Given the description of an element on the screen output the (x, y) to click on. 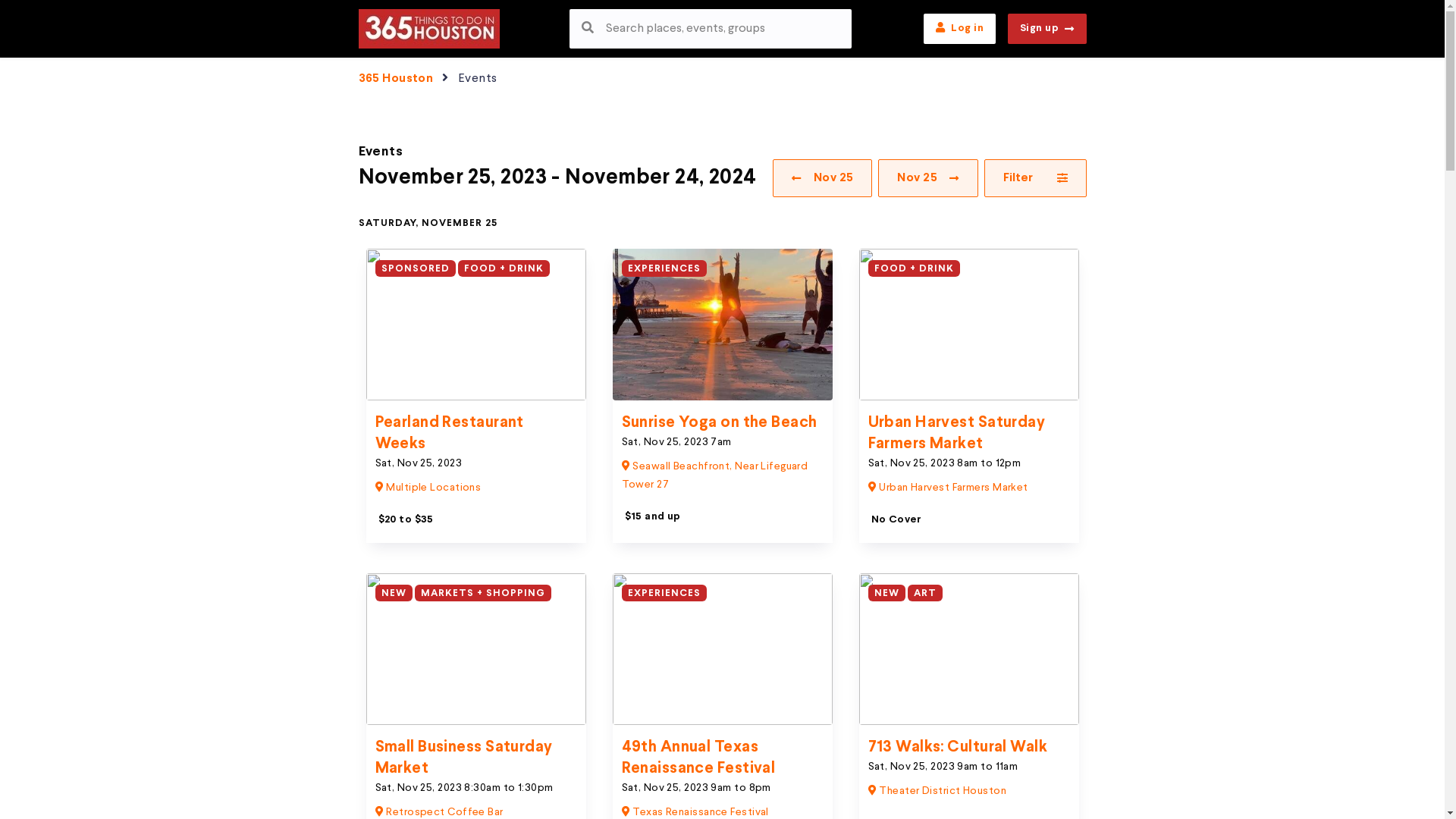
Sunrise Yoga on the Beach Element type: text (719, 422)
713 Walks: Cultural Walk Element type: text (957, 747)
Small Business Saturday Market Element type: text (463, 758)
Filter Element type: text (1035, 178)
FOOD + DRINK Element type: text (913, 268)
SPONSORED Element type: text (414, 268)
49th Annual Texas Renaissance Festival Element type: text (698, 758)
Urban Harvest Farmers Market Element type: text (947, 487)
Log in Element type: text (959, 28)
ART Element type: text (924, 592)
Multiple Locations Element type: text (427, 487)
Nov 25 Element type: text (822, 178)
365 Houston Element type: text (395, 78)
FOOD + DRINK Element type: text (503, 268)
MARKETS + SHOPPING Element type: text (482, 592)
Theater District Houston Element type: text (936, 790)
Nov 25 Element type: text (927, 178)
Seawall Beachfront, Near Lifeguard Tower 27 Element type: text (714, 475)
Retrospect Coffee Bar Element type: text (438, 811)
Sign up Element type: text (1046, 28)
EXPERIENCES Element type: text (663, 268)
Urban Harvest Saturday Farmers Market Element type: text (955, 433)
EXPERIENCES Element type: text (663, 592)
Texas Renaissance Festival Element type: text (694, 811)
Pearland Restaurant Weeks Element type: text (448, 433)
